Given the description of an element on the screen output the (x, y) to click on. 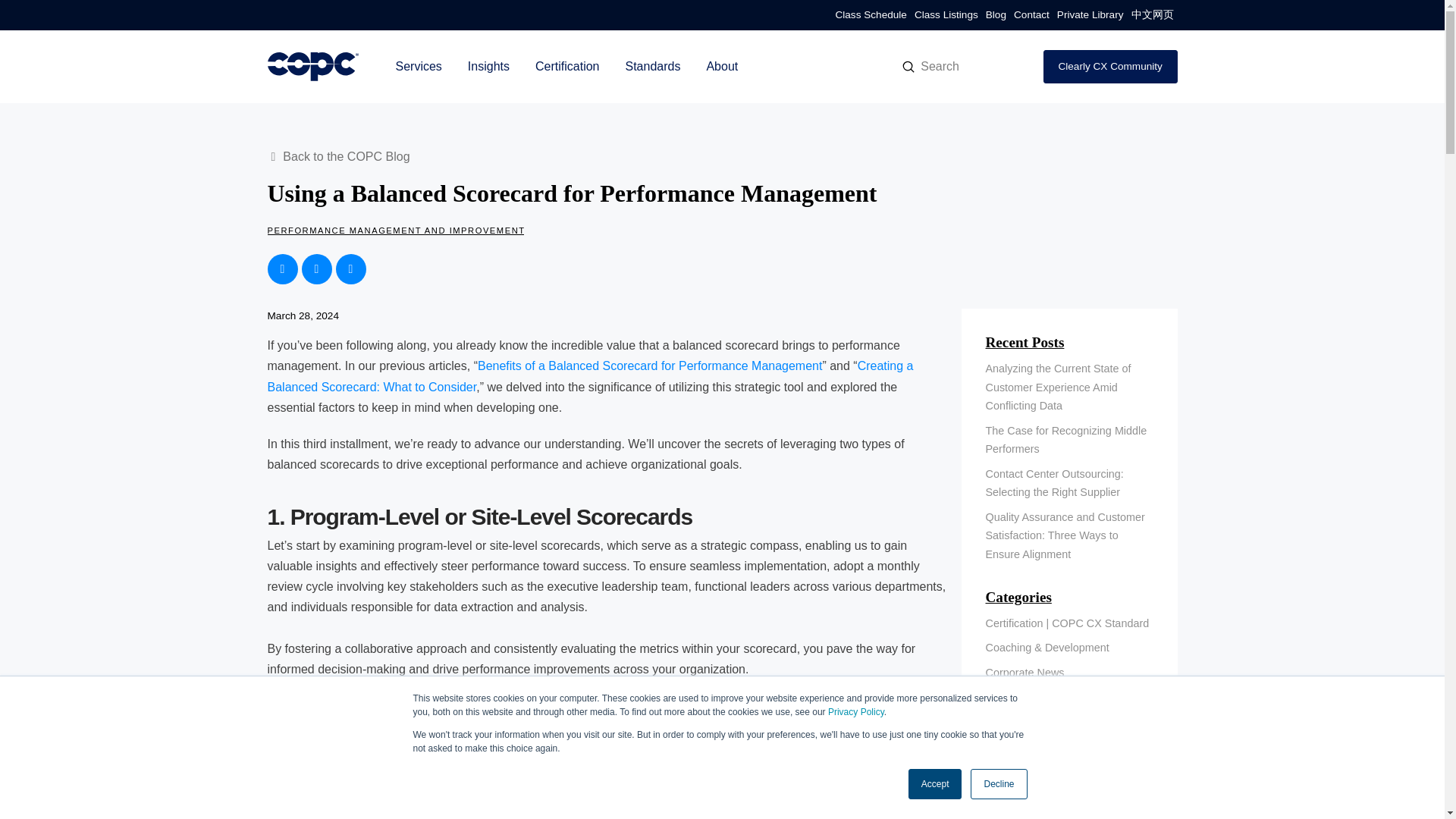
Insights (488, 66)
Certification (566, 66)
Popup CTA (1277, 774)
Private Library (1089, 14)
Class Schedule (870, 14)
Back to the COPC Blog (339, 157)
Contact (1031, 14)
Accept (935, 784)
Privacy Policy (855, 711)
Standards (652, 66)
Submit (908, 66)
Blog (995, 14)
Services (417, 66)
Class Listings (946, 14)
Decline (998, 784)
